Given the description of an element on the screen output the (x, y) to click on. 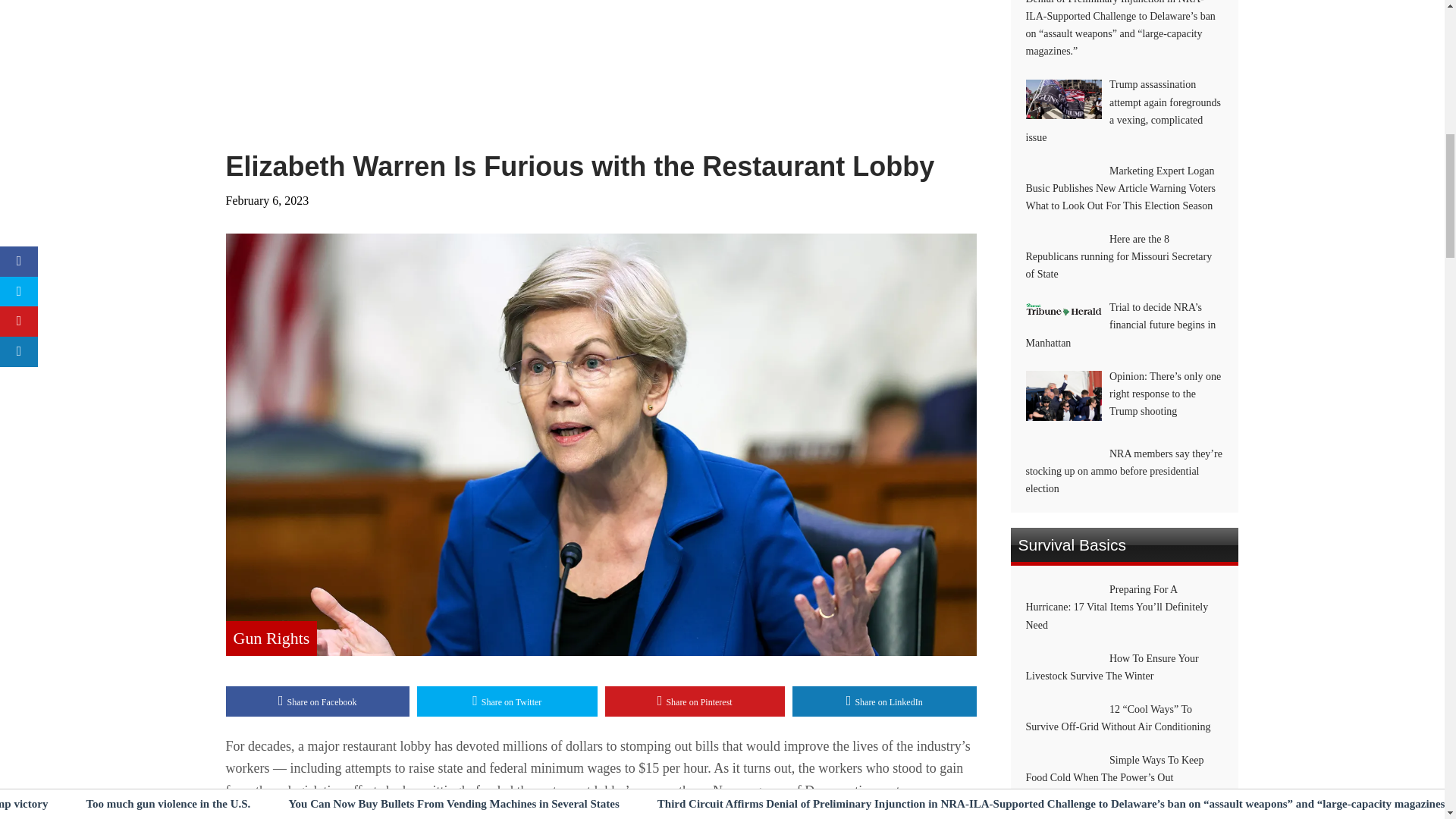
Gun Rights (271, 637)
